Given the description of an element on the screen output the (x, y) to click on. 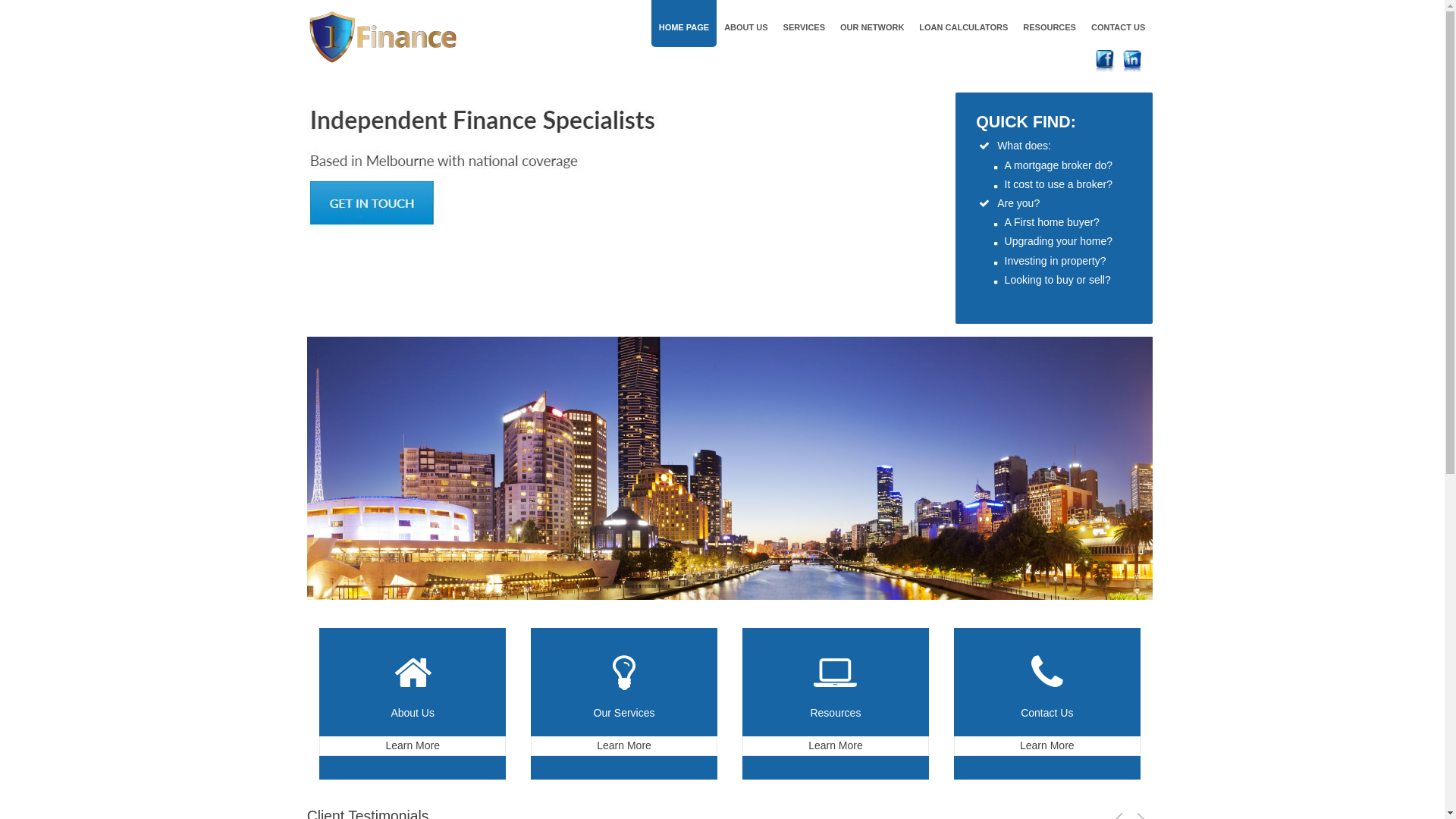
A First home buyer?  Element type: text (1048, 222)
Looking to buy or sell?  Element type: text (1053, 279)
LOAN CALCULATORS Element type: text (963, 23)
ABOUT US Element type: text (745, 23)
OUR NETWORK Element type: text (871, 23)
SERVICES Element type: text (803, 23)
Are you? Element type: text (1009, 203)
What does: Element type: text (1015, 145)
HOME PAGE Element type: text (683, 23)
CONTACT US Element type: text (1117, 23)
A mortgage broker do? Element type: text (1053, 165)
Upgrading your home?  Element type: text (1054, 241)
About Us
Learn More Element type: text (412, 703)
Our Services
Learn More Element type: text (623, 703)
Resources
Learn More Element type: text (835, 703)
Contact Us
Learn More Element type: text (1046, 703)
Investing in property?  Element type: text (1051, 260)
It cost to use a broker? Element type: text (1053, 184)
RESOURCES Element type: text (1049, 23)
